Given the description of an element on the screen output the (x, y) to click on. 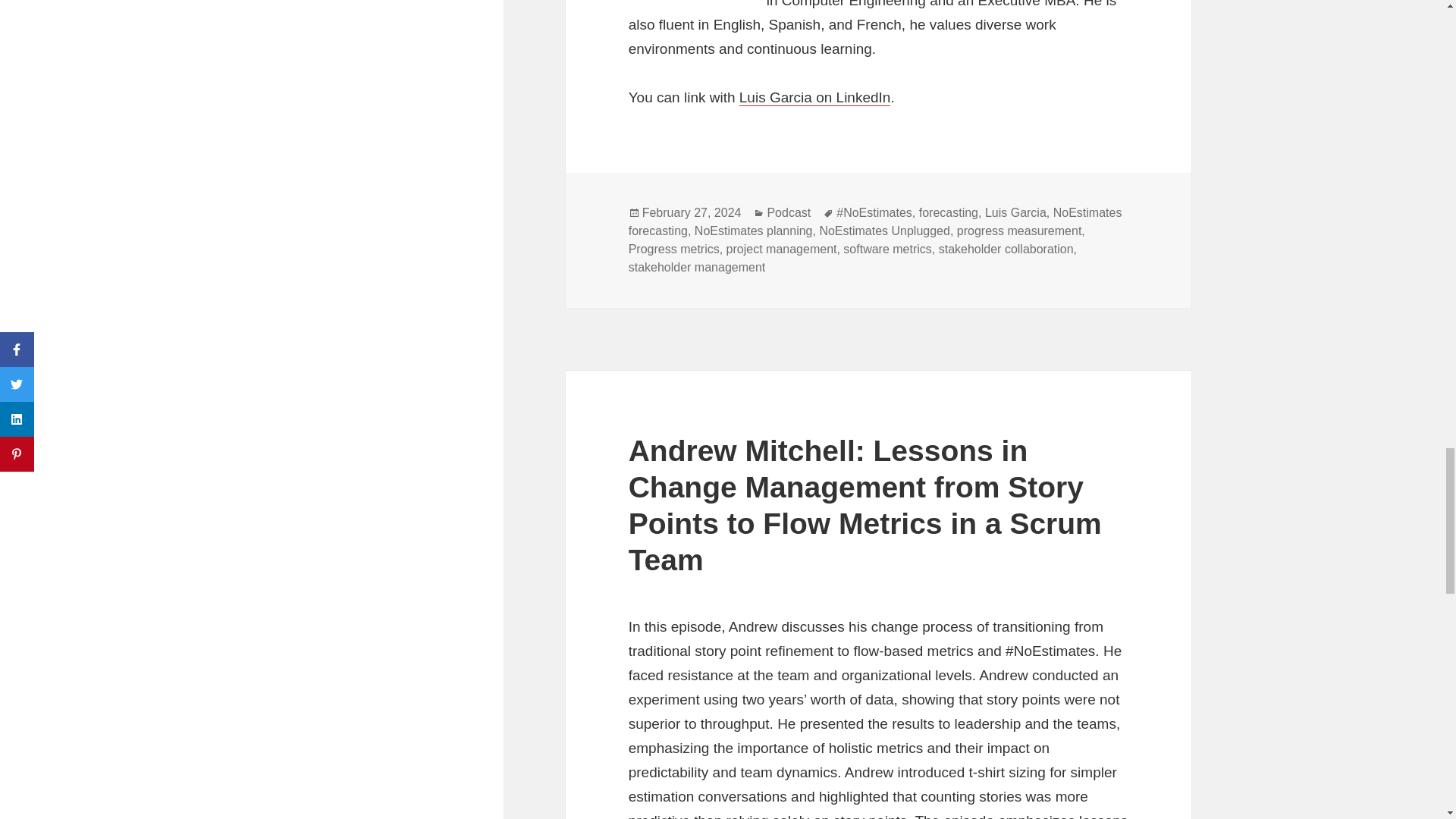
February 27, 2024 (691, 213)
Podcast (788, 213)
forecasting (948, 213)
Luis Garcia on LinkedIn (815, 97)
NoEstimates planning (753, 231)
NoEstimates forecasting (875, 222)
Luis Garcia (1015, 213)
